Given the description of an element on the screen output the (x, y) to click on. 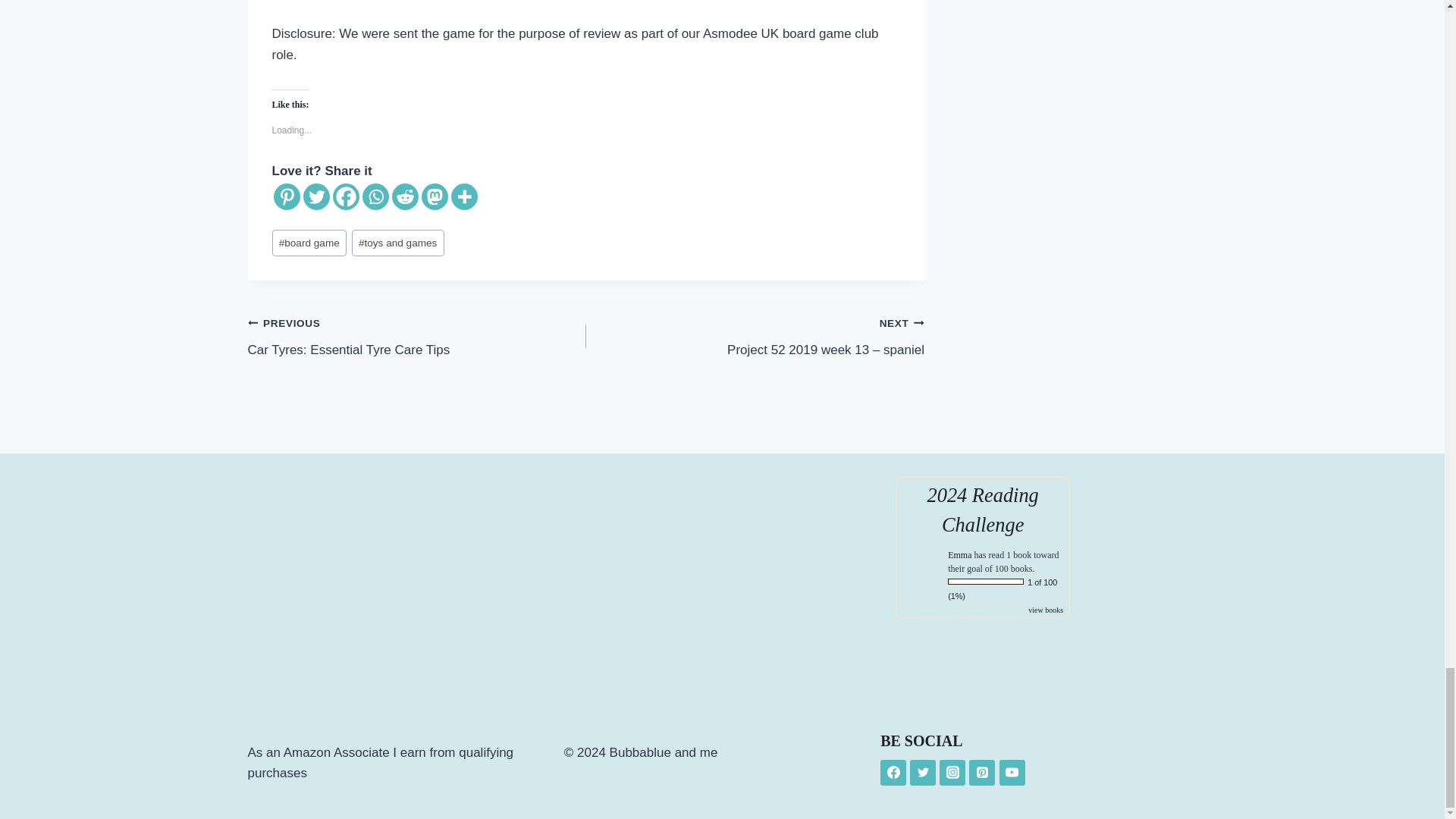
toys and games (398, 243)
board game (308, 243)
Whatsapp (375, 196)
Pinterest (286, 196)
Reddit (404, 196)
More (463, 196)
Facebook (344, 196)
Twitter (316, 196)
Mastodon (435, 196)
